Given the description of an element on the screen output the (x, y) to click on. 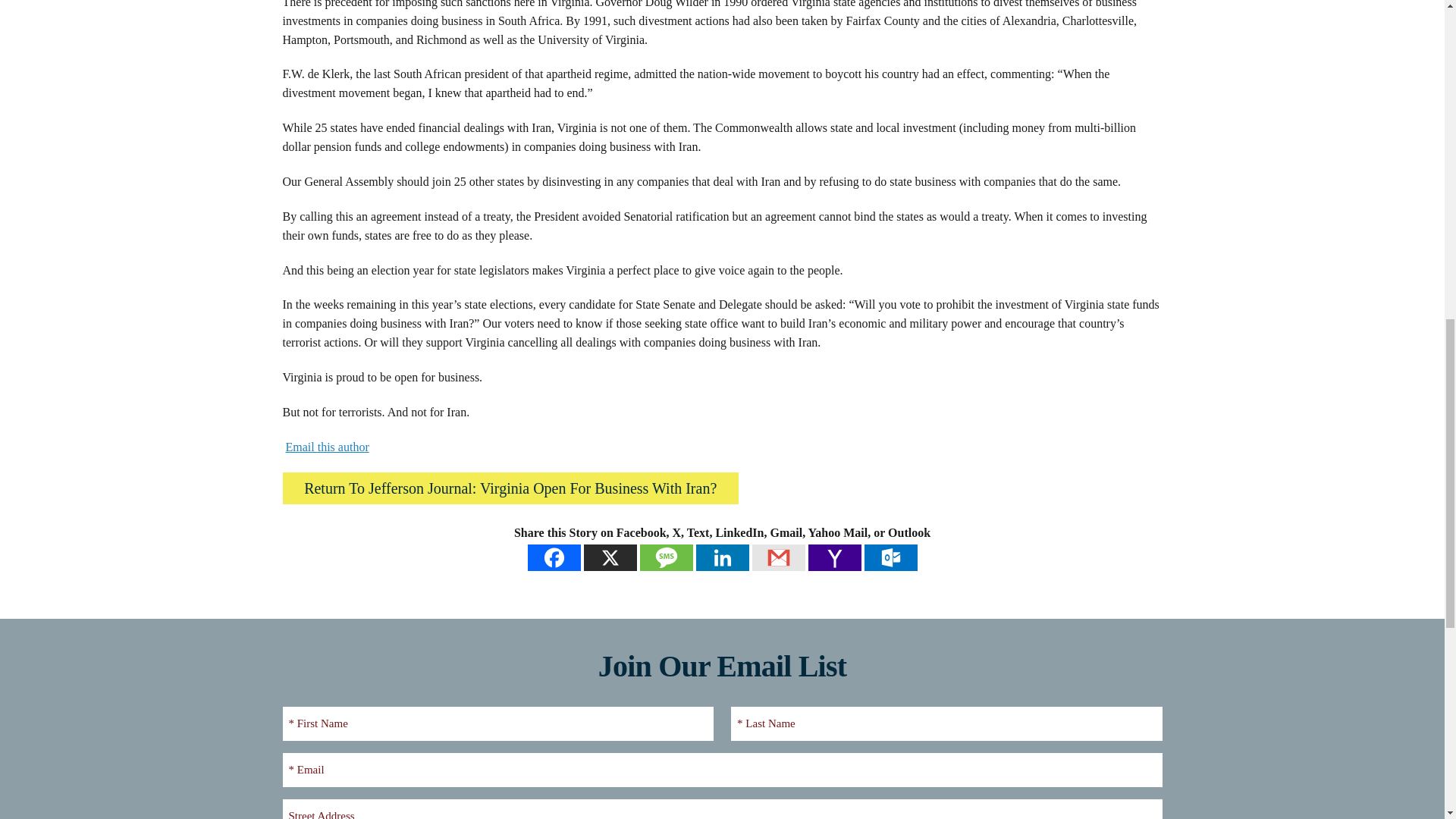
Email this author (326, 446)
Google Gmail (778, 557)
Facebook (553, 557)
SMS (666, 557)
X (610, 557)
Linkedin (722, 557)
